Given the description of an element on the screen output the (x, y) to click on. 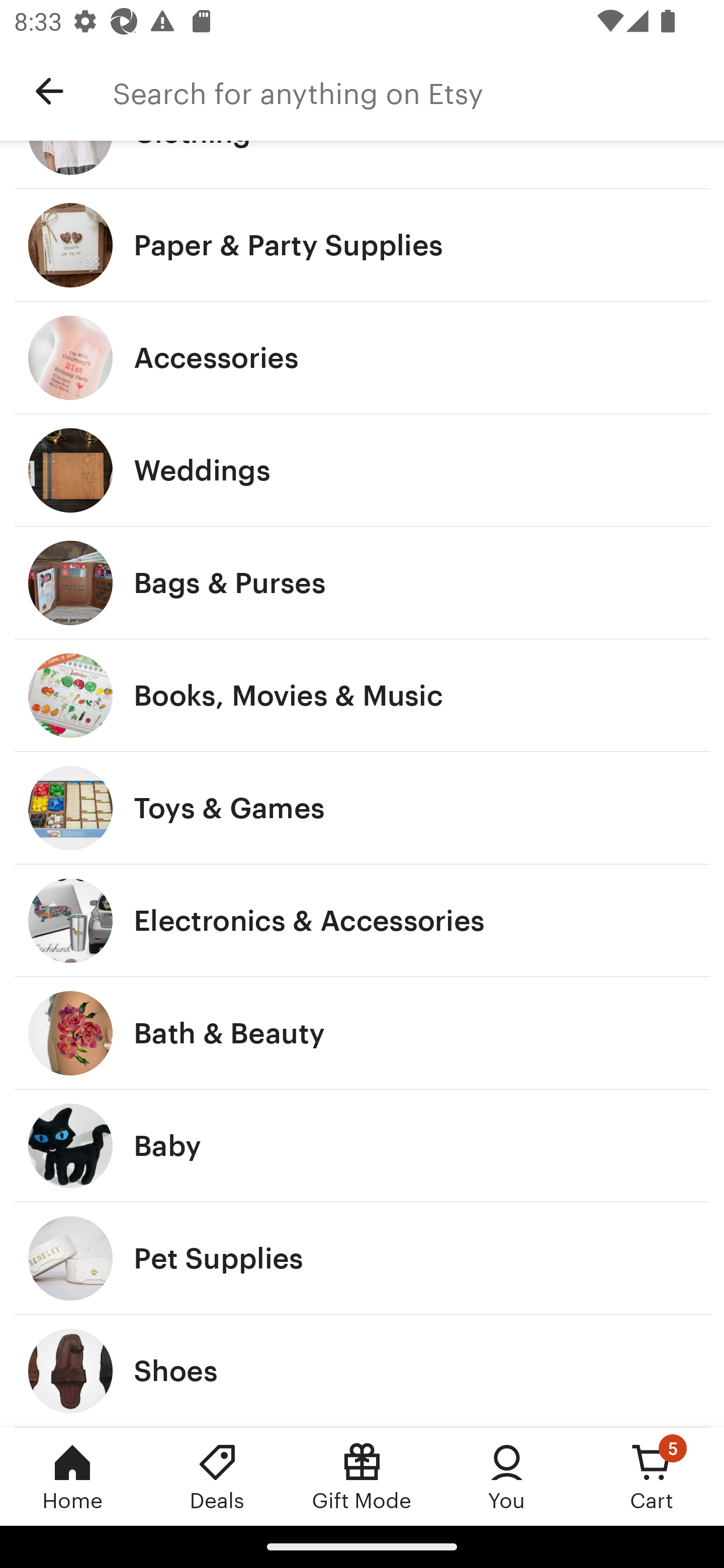
Navigate up (49, 91)
Search for anything on Etsy (418, 91)
Paper & Party Supplies (361, 245)
Accessories (361, 357)
Weddings (361, 469)
Bags & Purses (361, 582)
Books, Movies & Music (361, 695)
Toys & Games (361, 807)
Electronics & Accessories (361, 919)
Bath & Beauty (361, 1032)
Baby (361, 1145)
Pet Supplies (361, 1257)
Shoes (361, 1369)
Deals (216, 1475)
Gift Mode (361, 1475)
You (506, 1475)
Cart, 5 new notifications Cart (651, 1475)
